Given the description of an element on the screen output the (x, y) to click on. 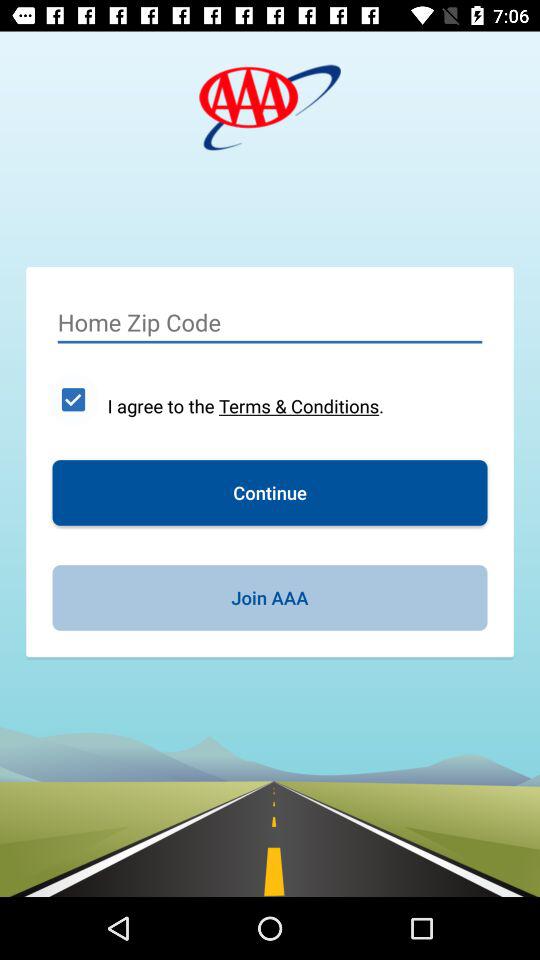
turn on the item next to the i agree to (73, 399)
